Given the description of an element on the screen output the (x, y) to click on. 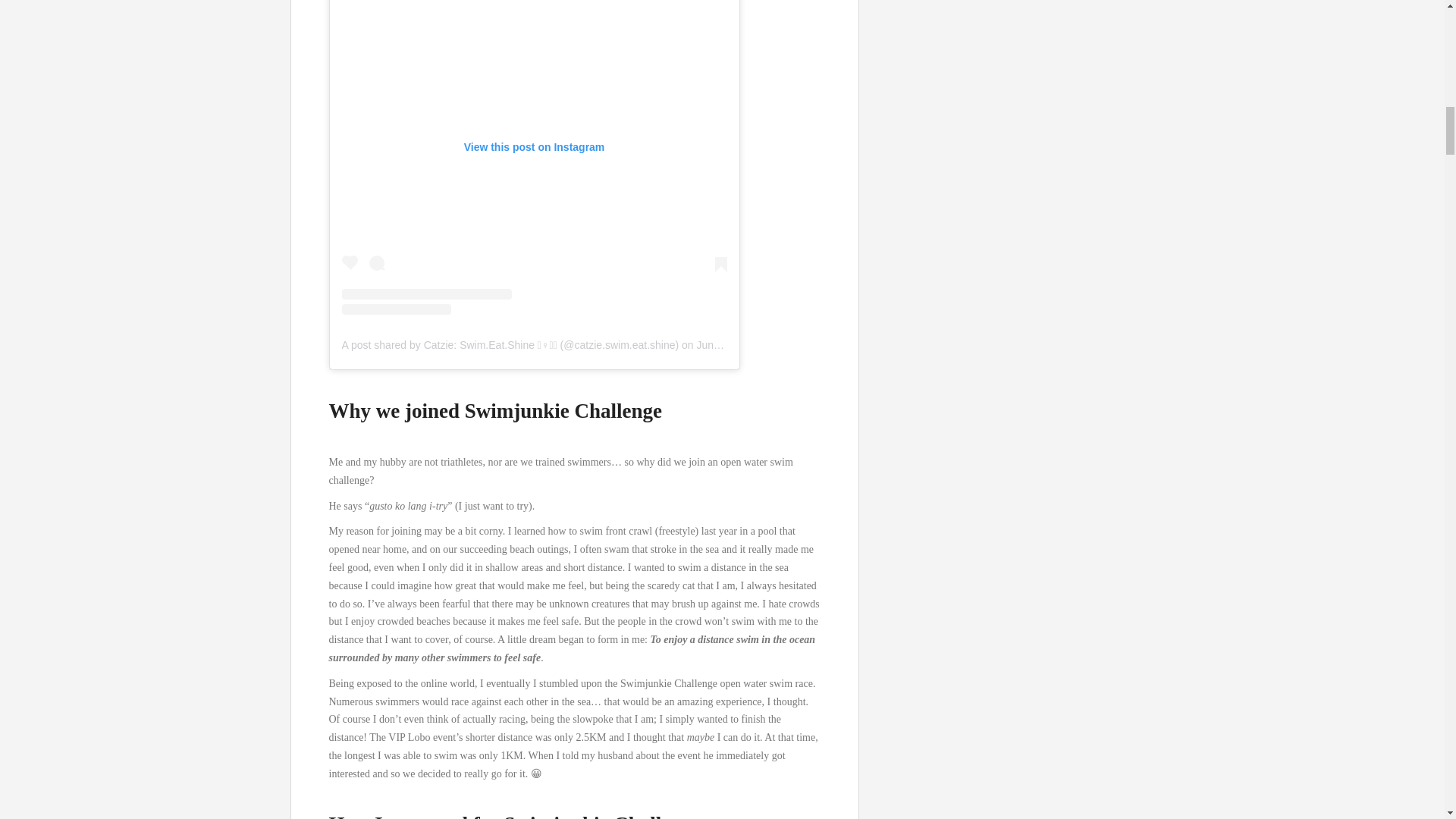
View this post on Instagram (533, 157)
